Given the description of an element on the screen output the (x, y) to click on. 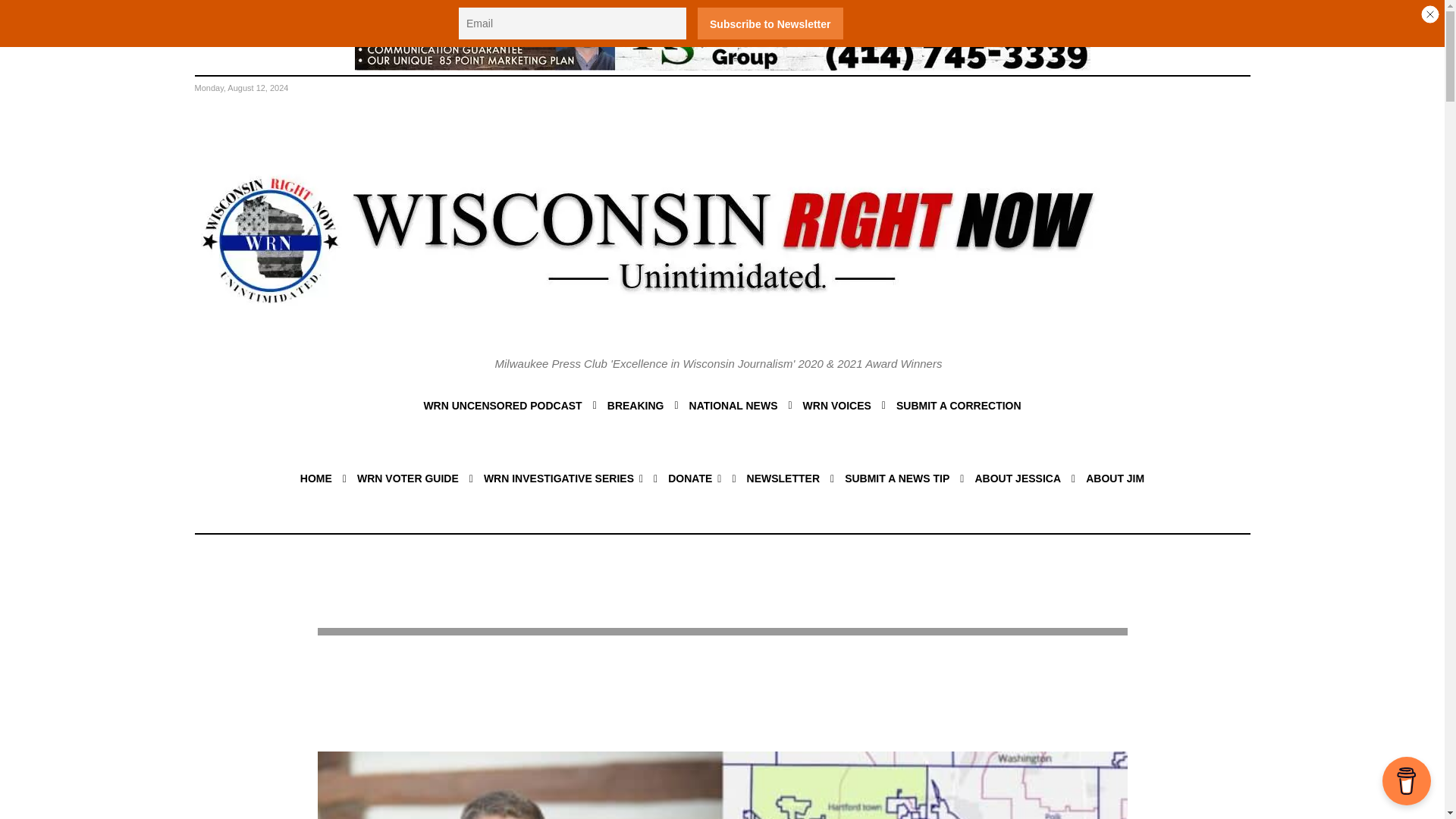
WRN VOTER GUIDE (407, 478)
WRN UNCENSORED PODCAST (502, 405)
BREAKING (635, 405)
NATIONAL NEWS (733, 405)
HOME (315, 478)
ABOUT JESSICA (1017, 478)
NEWSLETTER (782, 478)
DONATE (695, 478)
WRN INVESTIGATIVE SERIES (563, 478)
